Given the description of an element on the screen output the (x, y) to click on. 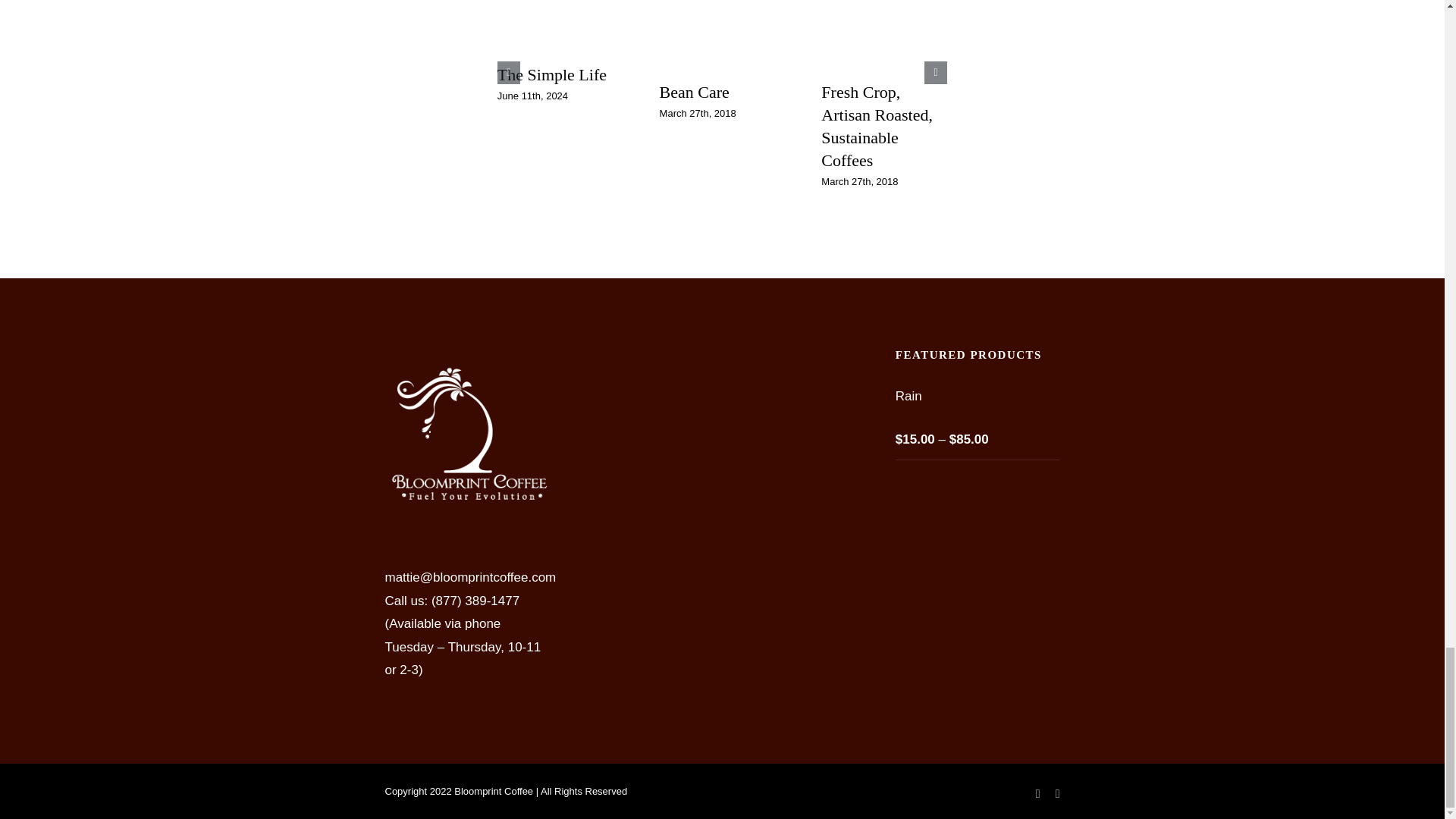
The Simple Life (552, 74)
Fresh Crop, Artisan Roasted, Sustainable Coffees (877, 125)
Bean Care (694, 91)
